Given the description of an element on the screen output the (x, y) to click on. 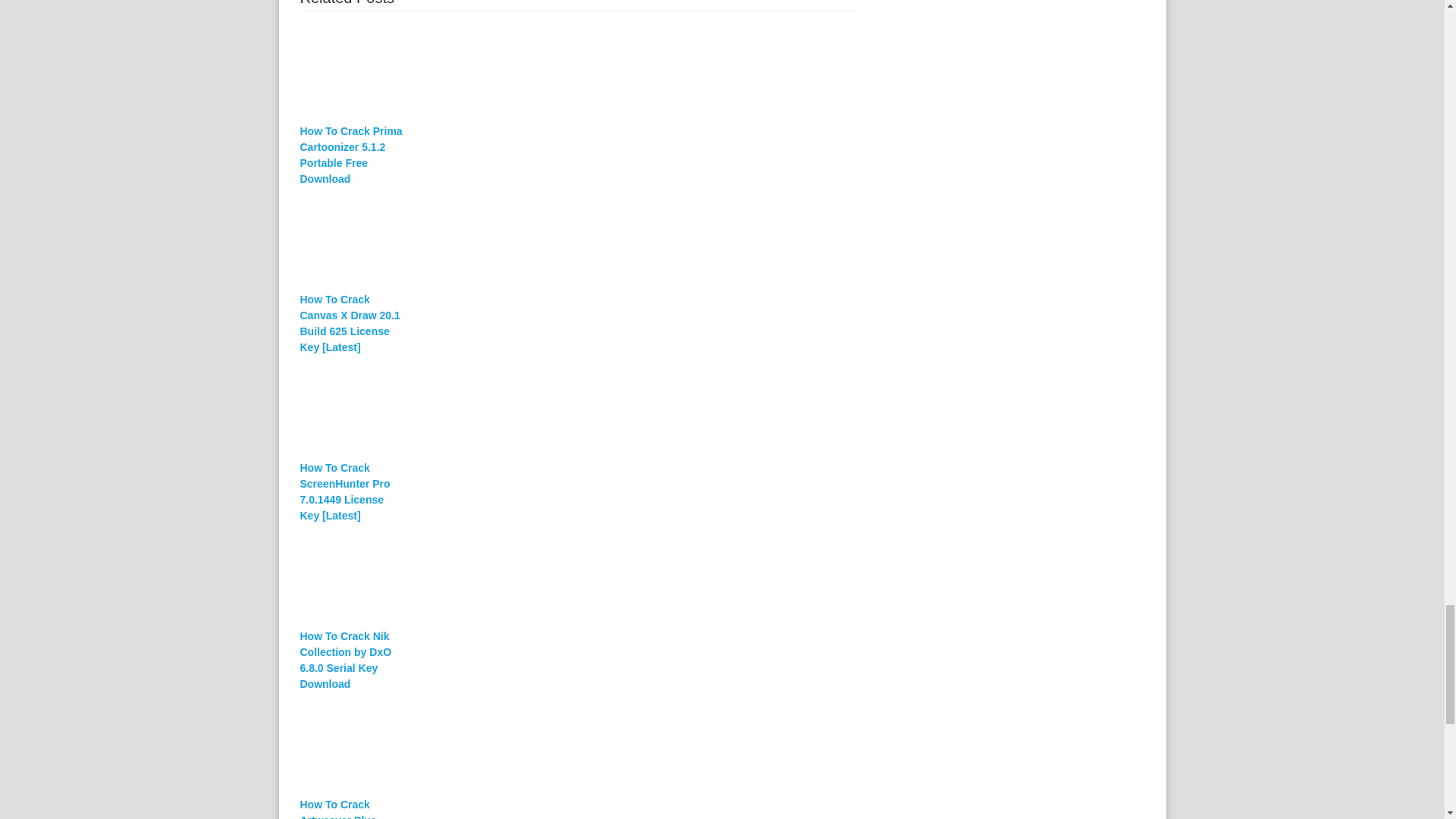
How To Crack Prima Cartoonizer 5.1.2 Portable Free Download (578, 70)
How To Crack Nik Collection by DxO 6.8.0 Serial Key Download (351, 660)
How To Crack Nik Collection by DxO 6.8.0 Serial Key Download (351, 660)
How To Crack Nik Collection by DxO 6.8.0 Serial Key Download (578, 576)
How To Crack Prima Cartoonizer 5.1.2 Portable Free Download (351, 155)
How To Crack Prima Cartoonizer 5.1.2 Portable Free Download (351, 155)
